Given the description of an element on the screen output the (x, y) to click on. 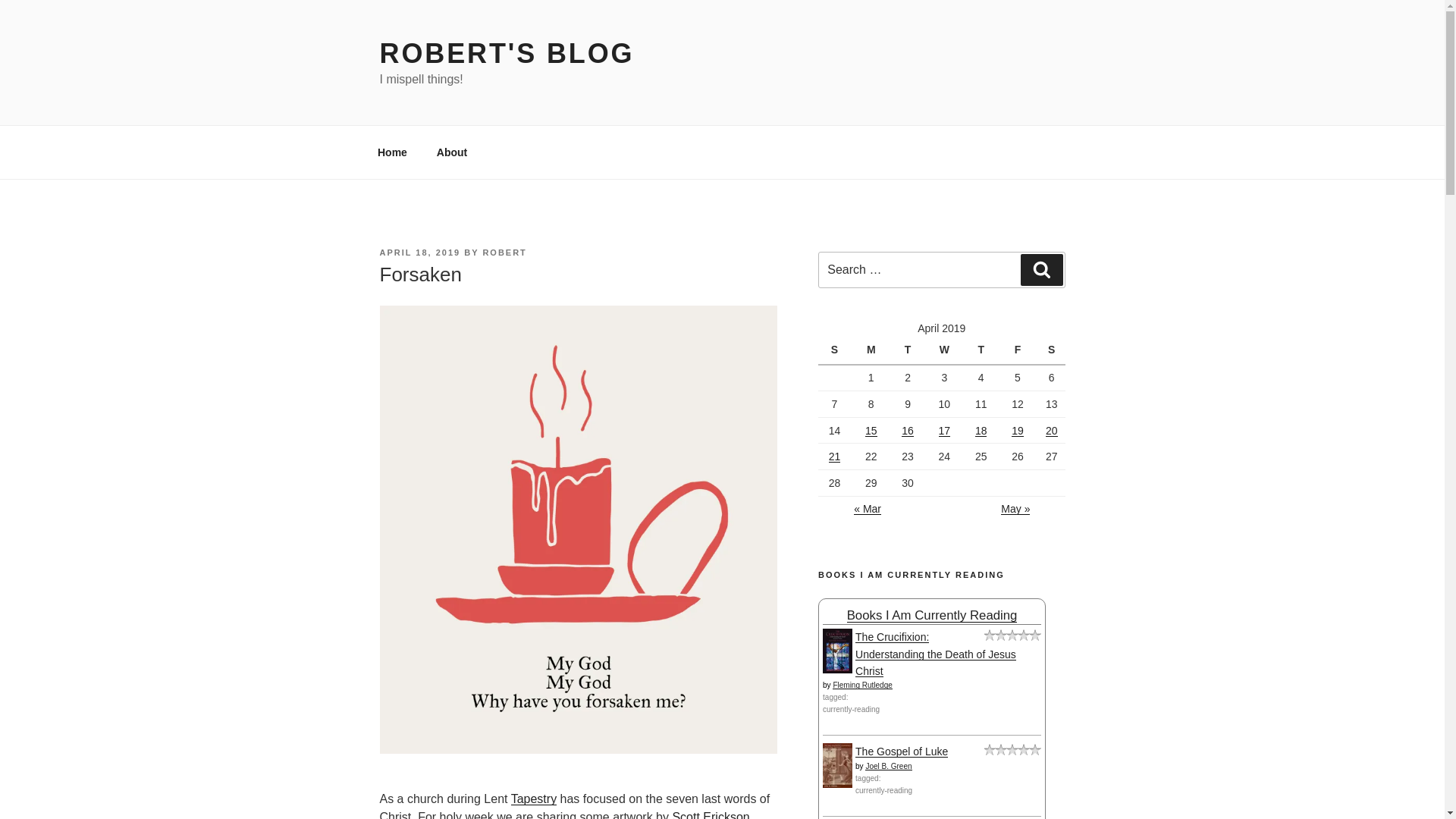
19 (1017, 430)
20 (1051, 430)
ROBERT (503, 252)
About (451, 151)
The Crucifixion: Understanding the Death of Jesus Christ (936, 653)
16 (907, 430)
18 (981, 430)
Tapestry (533, 798)
Search (1041, 269)
APRIL 18, 2019 (419, 252)
Scott Erickson (710, 814)
17 (944, 430)
ROBERT'S BLOG (505, 52)
Books I Am Currently Reading (932, 615)
15 (870, 430)
